Given the description of an element on the screen output the (x, y) to click on. 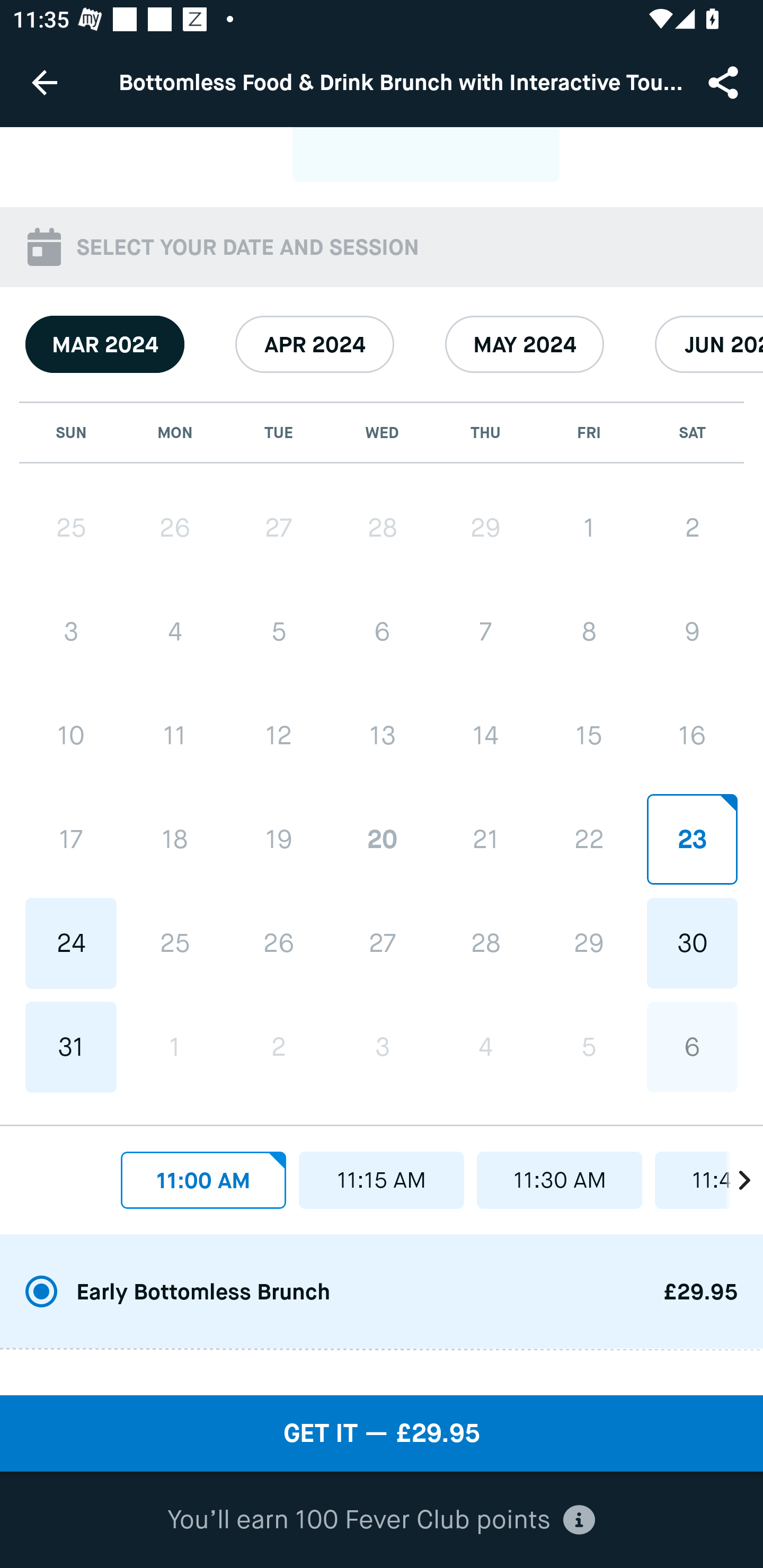
Navigate up (44, 82)
Share (724, 81)
MAR 2024 (104, 343)
APR 2024 (314, 343)
MAY 2024 (524, 343)
25 (70, 527)
26 (174, 527)
27 (278, 527)
28 (382, 527)
29 (485, 527)
1 (588, 527)
2 (692, 527)
3 (70, 631)
4 (174, 631)
5 (278, 631)
6 (382, 631)
7 (485, 631)
8 (588, 631)
9 (692, 631)
10 (70, 734)
11 (174, 734)
12 (278, 734)
13 (382, 734)
14 (485, 734)
15 (588, 734)
16 (692, 734)
17 (70, 839)
18 (174, 839)
19 (278, 839)
20 (382, 838)
21 (485, 838)
22 (588, 838)
23 (692, 838)
24 (70, 943)
25 (174, 943)
26 (278, 943)
27 (382, 942)
28 (485, 942)
29 (588, 942)
30 (692, 942)
31 (70, 1046)
1 (174, 1046)
2 (278, 1046)
3 (382, 1046)
4 (485, 1046)
5 (588, 1046)
6 (692, 1046)
chevron (734, 1174)
11:00 AM (203, 1179)
11:15 AM (381, 1179)
11:30 AM (559, 1179)
Early Bottomless Brunch £29.95 (381, 1292)
GET IT — £29.95 (381, 1433)
You’ll earn 100 Fever Club points (381, 1519)
